Given the description of an element on the screen output the (x, y) to click on. 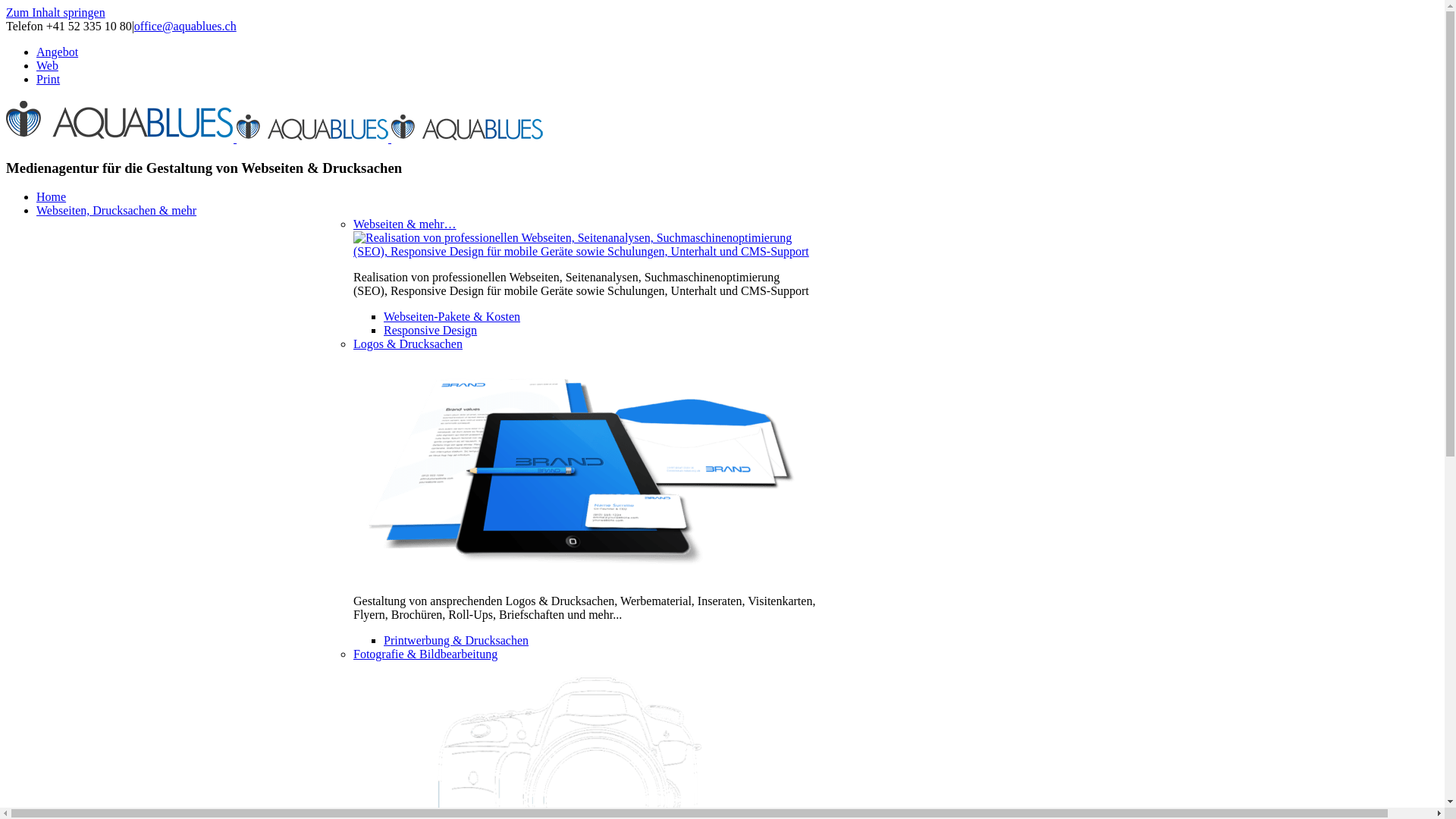
Print Element type: text (47, 78)
Home Element type: text (50, 196)
Webseiten-Pakete & Kosten Element type: text (451, 316)
Fotografie & Bildbearbeitung Element type: text (425, 653)
Webseiten, Drucksachen & mehr Element type: text (116, 209)
Printwerbung & Drucksachen Element type: text (455, 639)
Angebot Element type: text (57, 51)
Web Element type: text (47, 65)
Logos & Drucksachen Element type: text (407, 343)
Zum Inhalt springen Element type: text (55, 12)
office@aquablues.ch Element type: text (185, 25)
Responsive Design Element type: text (429, 329)
